Given the description of an element on the screen output the (x, y) to click on. 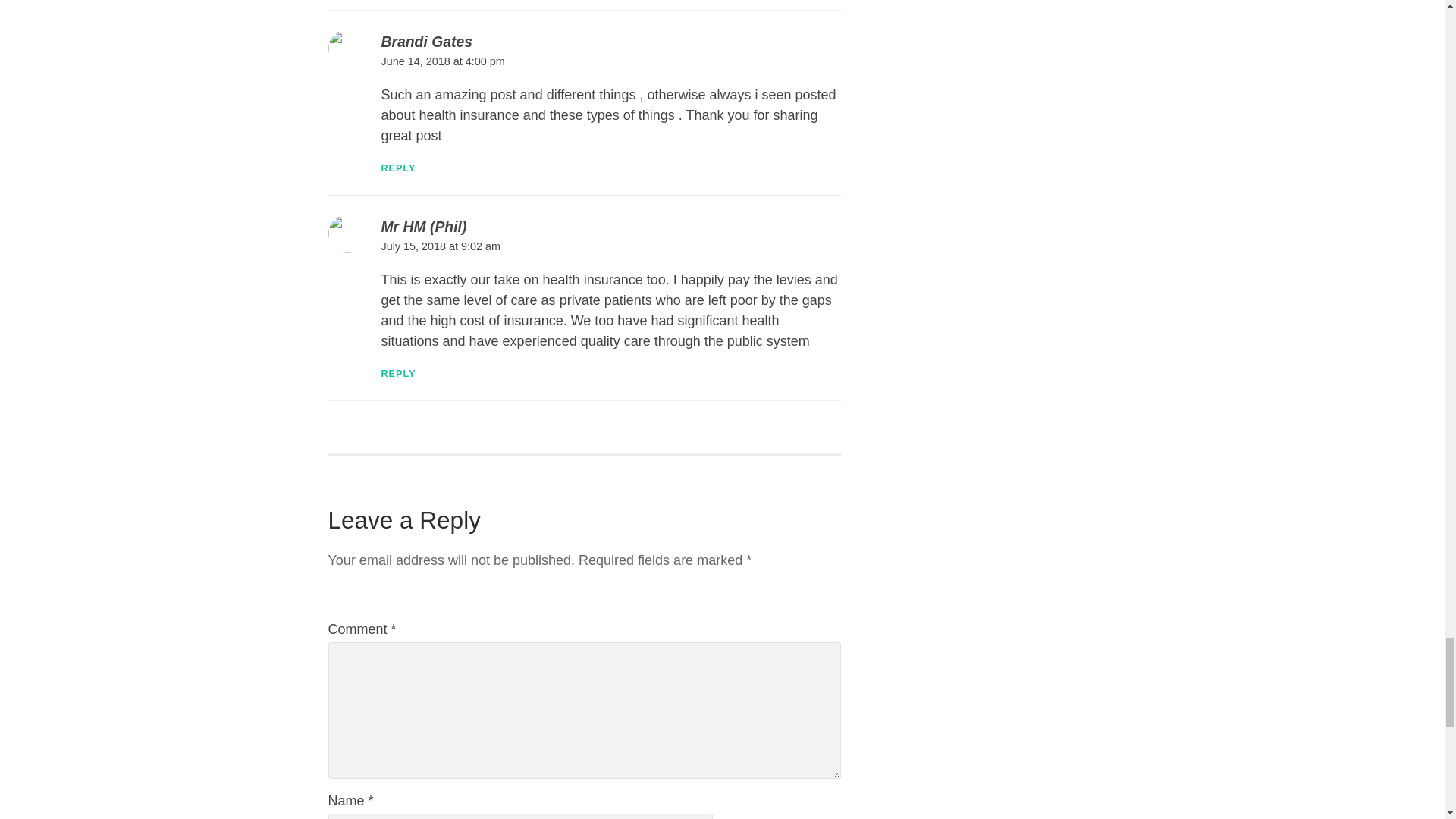
June 14, 2018 at 4:00 pm (441, 61)
July 15, 2018 at 9:02 am (440, 246)
Brandi Gates (425, 41)
REPLY (397, 373)
REPLY (397, 167)
